Given the description of an element on the screen output the (x, y) to click on. 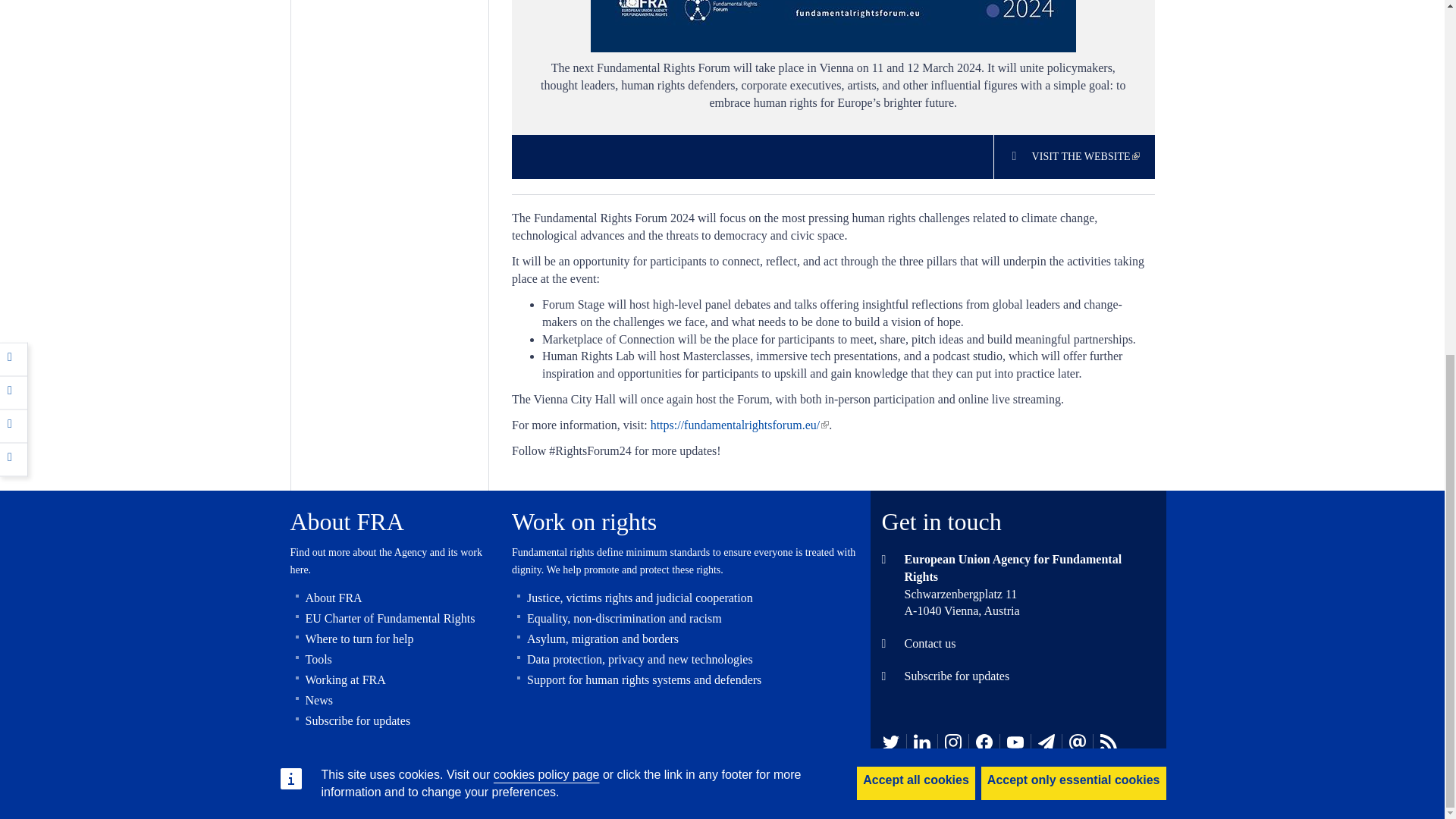
FRA's YouTube channel (1015, 742)
FRA's Facebook channel (983, 742)
Subscribe to FRA's newsletter (1045, 742)
Accept all cookies (916, 162)
Accept only essential cookies (1073, 162)
FRA's LinkedIn channel (921, 742)
FRA's Instagram channel (952, 742)
FRA's Twitter channel (890, 742)
cookies policy page (546, 153)
